Given the description of an element on the screen output the (x, y) to click on. 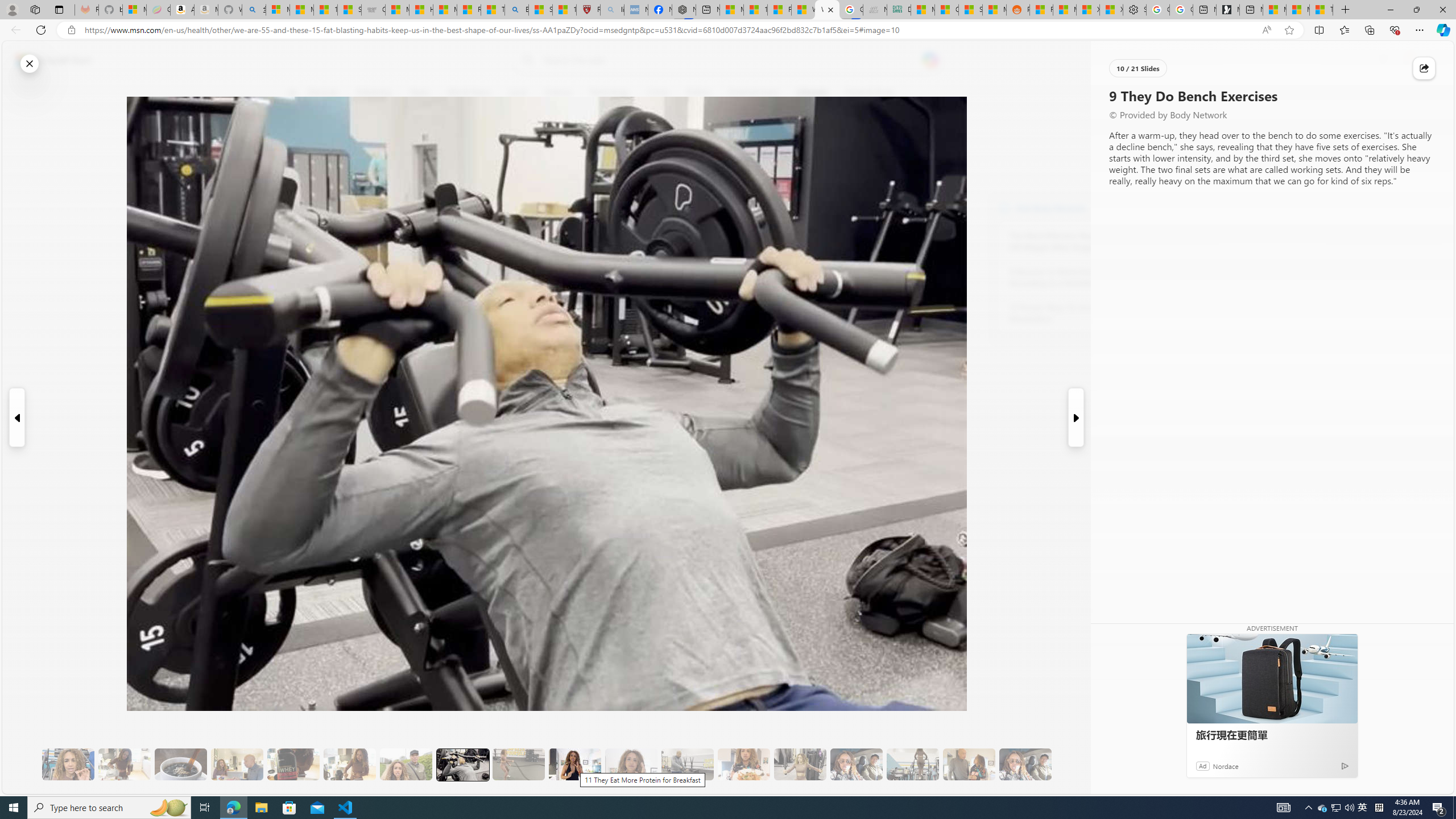
2 They Use Protein Powder for Flavor (68, 764)
10 Then, They Do HIIT Cardio (518, 764)
6 Since Eating More Protein Her Training Has Improved (293, 764)
9 They Do Bench Exercises (462, 764)
3 They Drink Lemon Tea (124, 764)
